Given the description of an element on the screen output the (x, y) to click on. 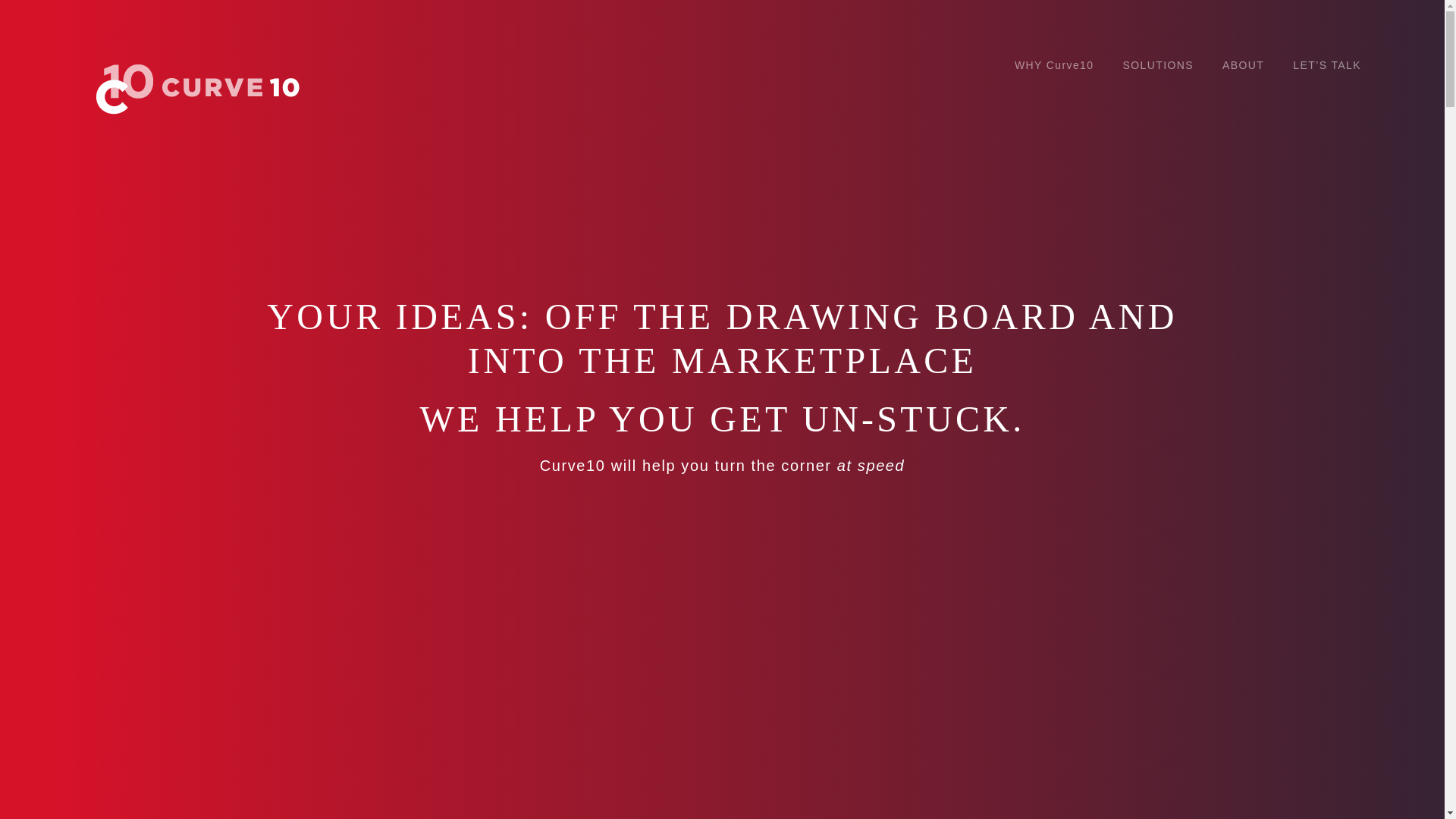
ABOUT (1243, 65)
WHY Curve10 (1054, 65)
SOLUTIONS (1157, 65)
